Given the description of an element on the screen output the (x, y) to click on. 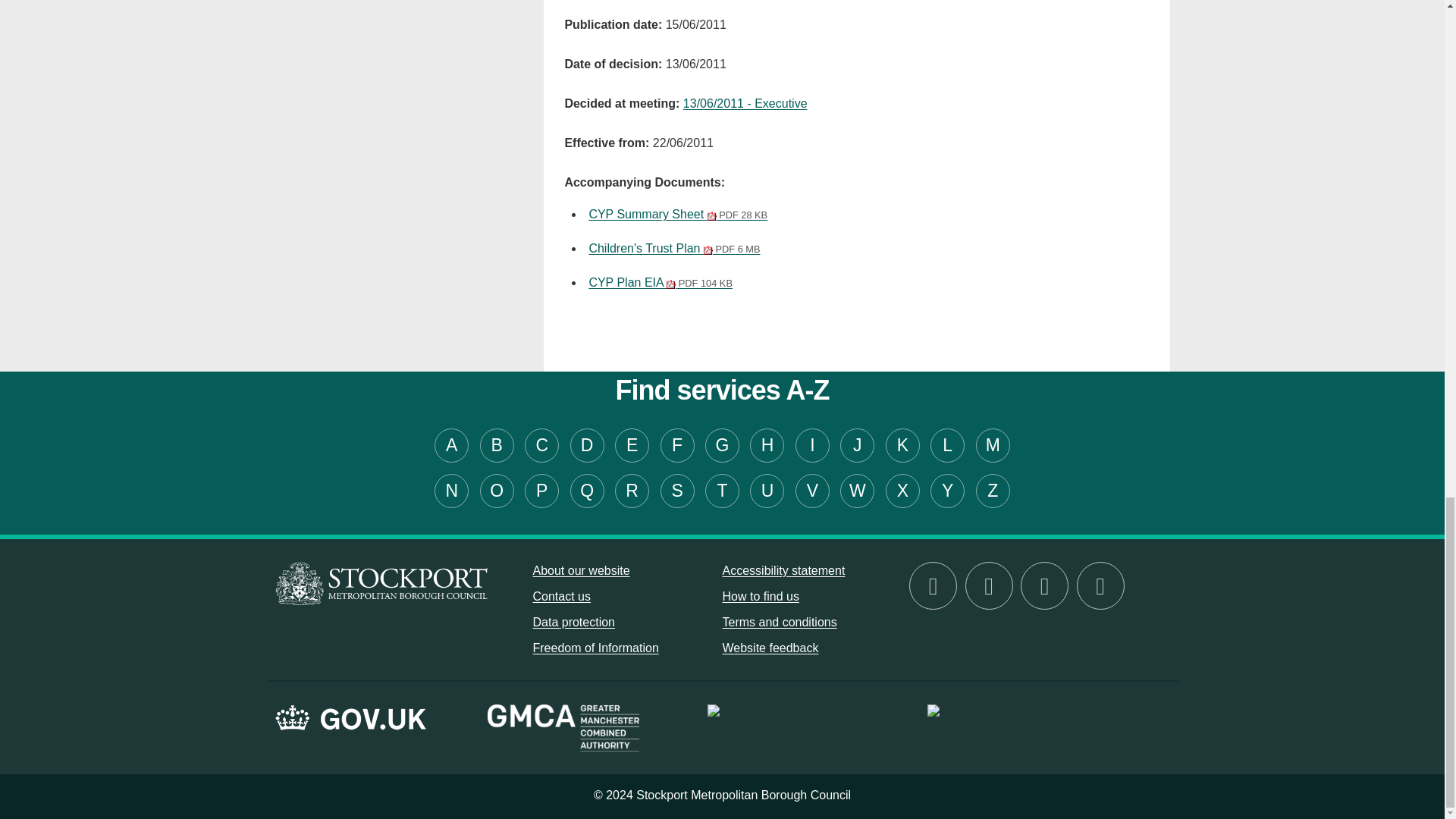
Children's Trust Plan PDF 6 MB (674, 247)
Link to file Children's Trust Plan (674, 247)
Link to file CYP Plan EIA (660, 282)
B (496, 445)
CYP Plan EIA PDF 104 KB (660, 282)
CYP Summary Sheet PDF 28 KB (677, 214)
Link to file CYP Summary Sheet (677, 214)
D (587, 445)
A (450, 445)
C (541, 445)
